Given the description of an element on the screen output the (x, y) to click on. 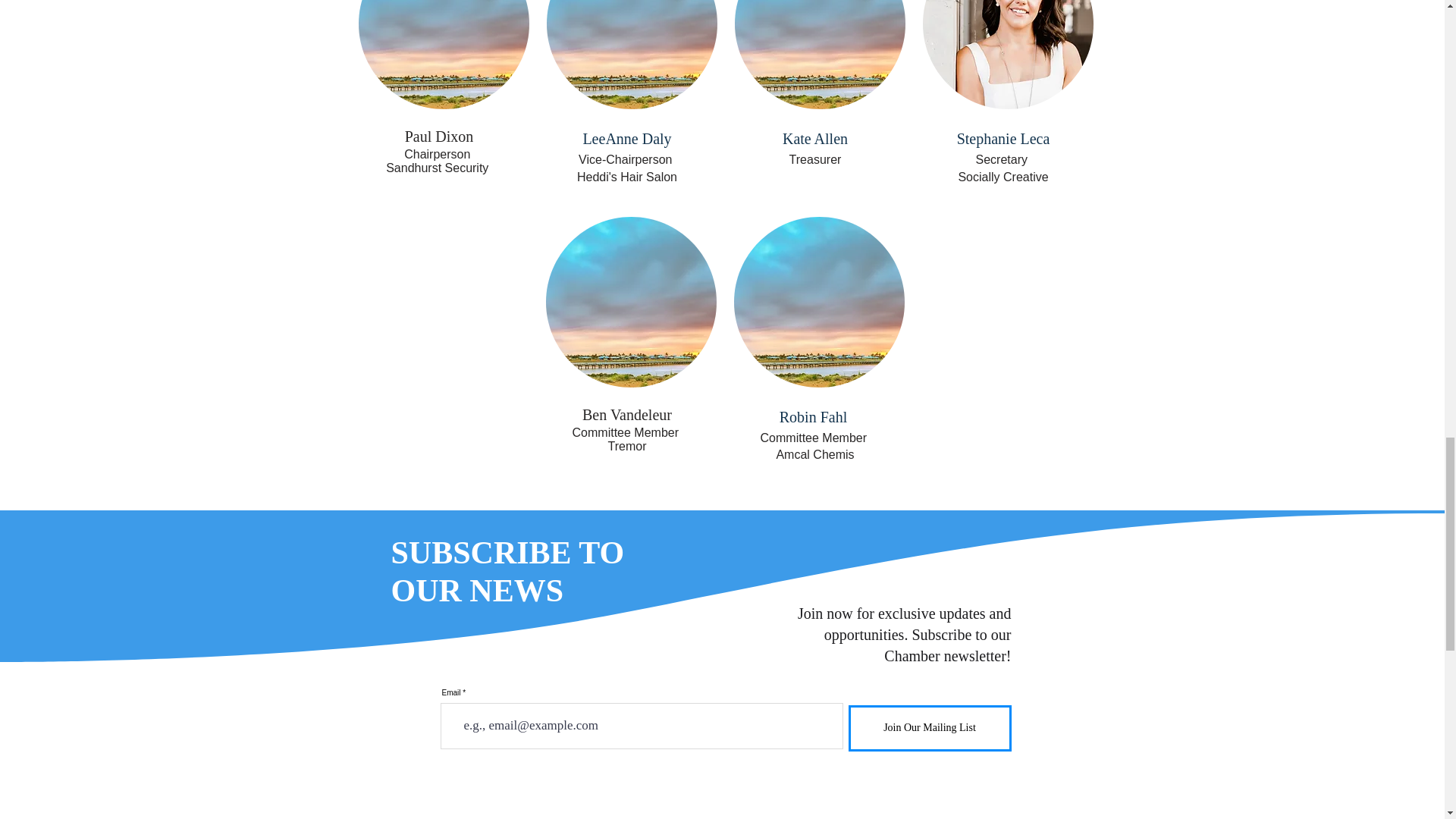
Join Our Mailing List (928, 728)
